Given the description of an element on the screen output the (x, y) to click on. 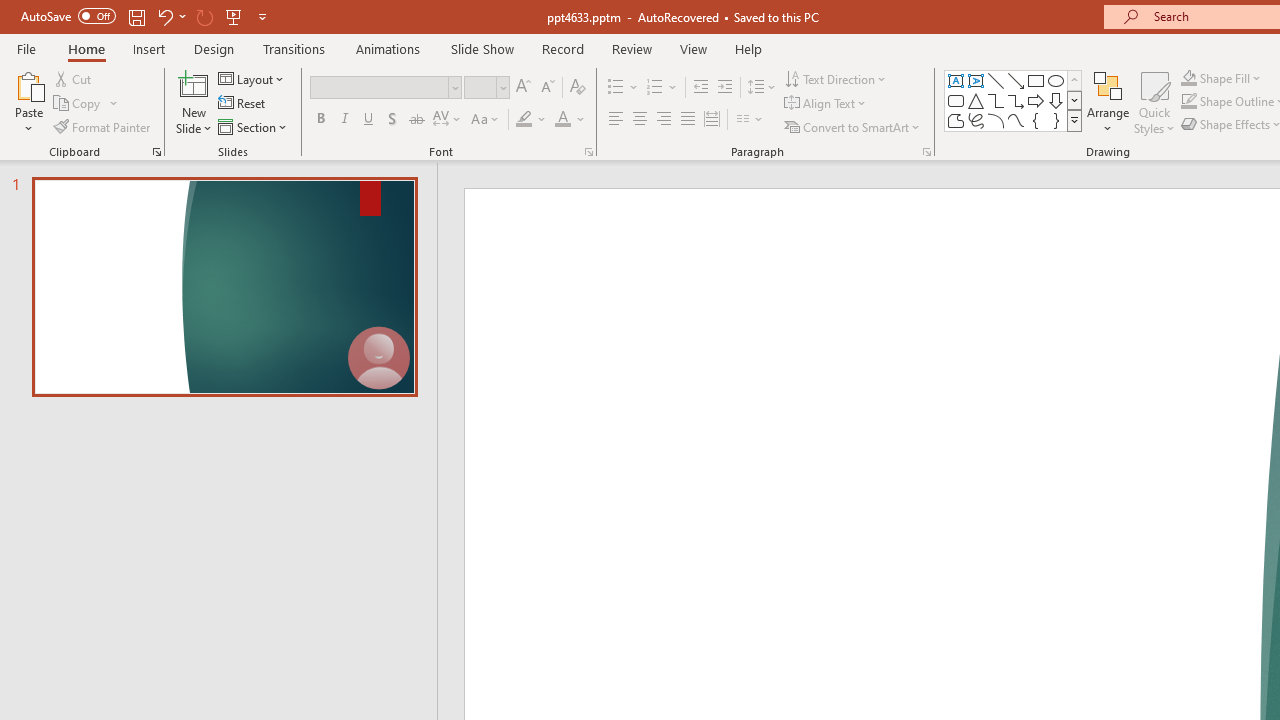
Bold (320, 119)
Change Case (486, 119)
Freeform: Scribble (975, 120)
Curve (1016, 120)
Decrease Indent (700, 87)
Cut (73, 78)
Section (254, 126)
